Given the description of an element on the screen output the (x, y) to click on. 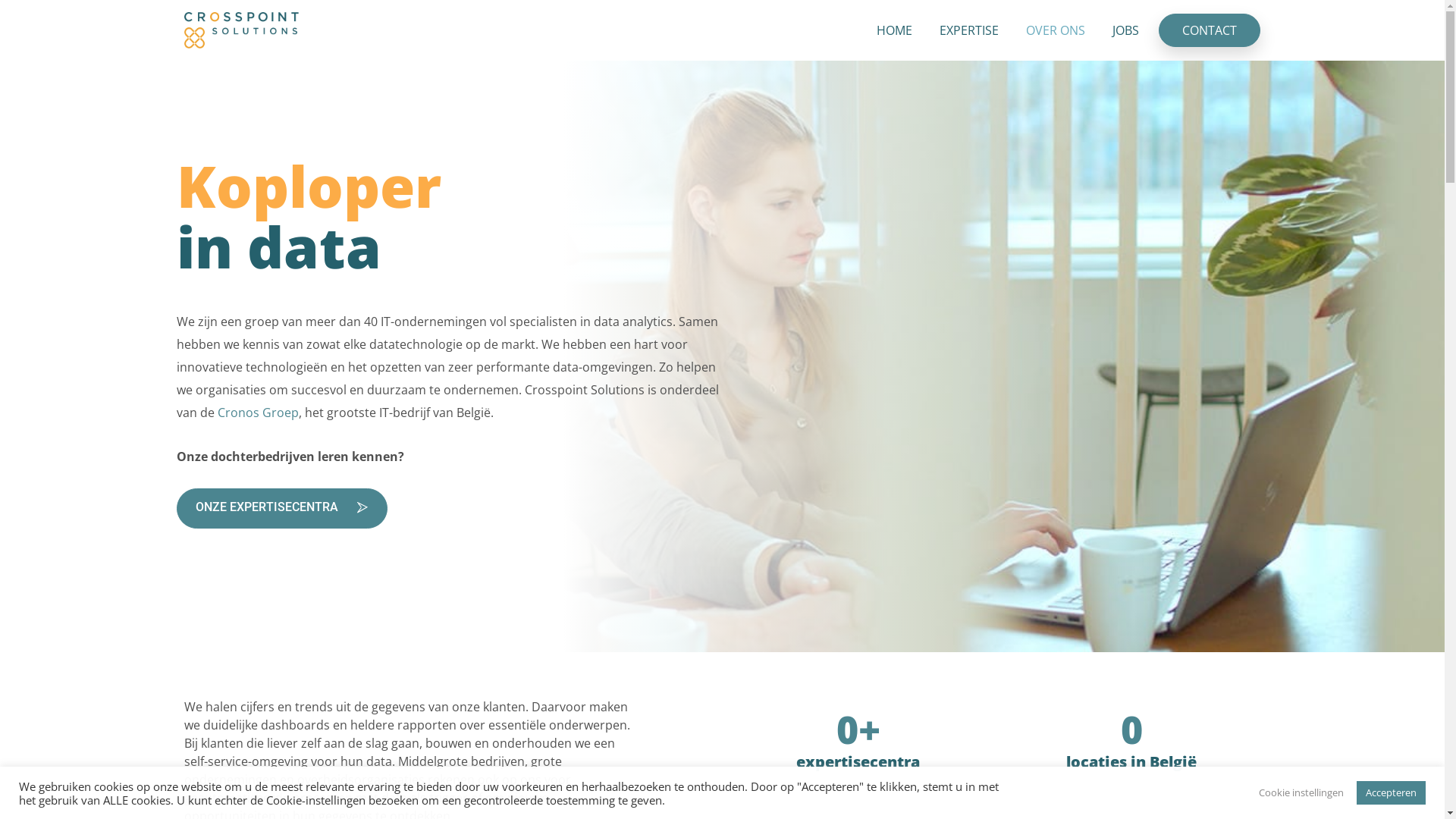
CONTACT Element type: text (1209, 30)
OVER ONS Element type: text (1055, 30)
Cookie instellingen Element type: text (1300, 792)
HOME Element type: text (894, 30)
JOBS Element type: text (1125, 30)
EXPERTISE Element type: text (968, 30)
ONZE EXPERTISECENTRA Element type: text (280, 508)
Cronos Groep Element type: text (257, 412)
Accepteren Element type: text (1390, 792)
